Given the description of an element on the screen output the (x, y) to click on. 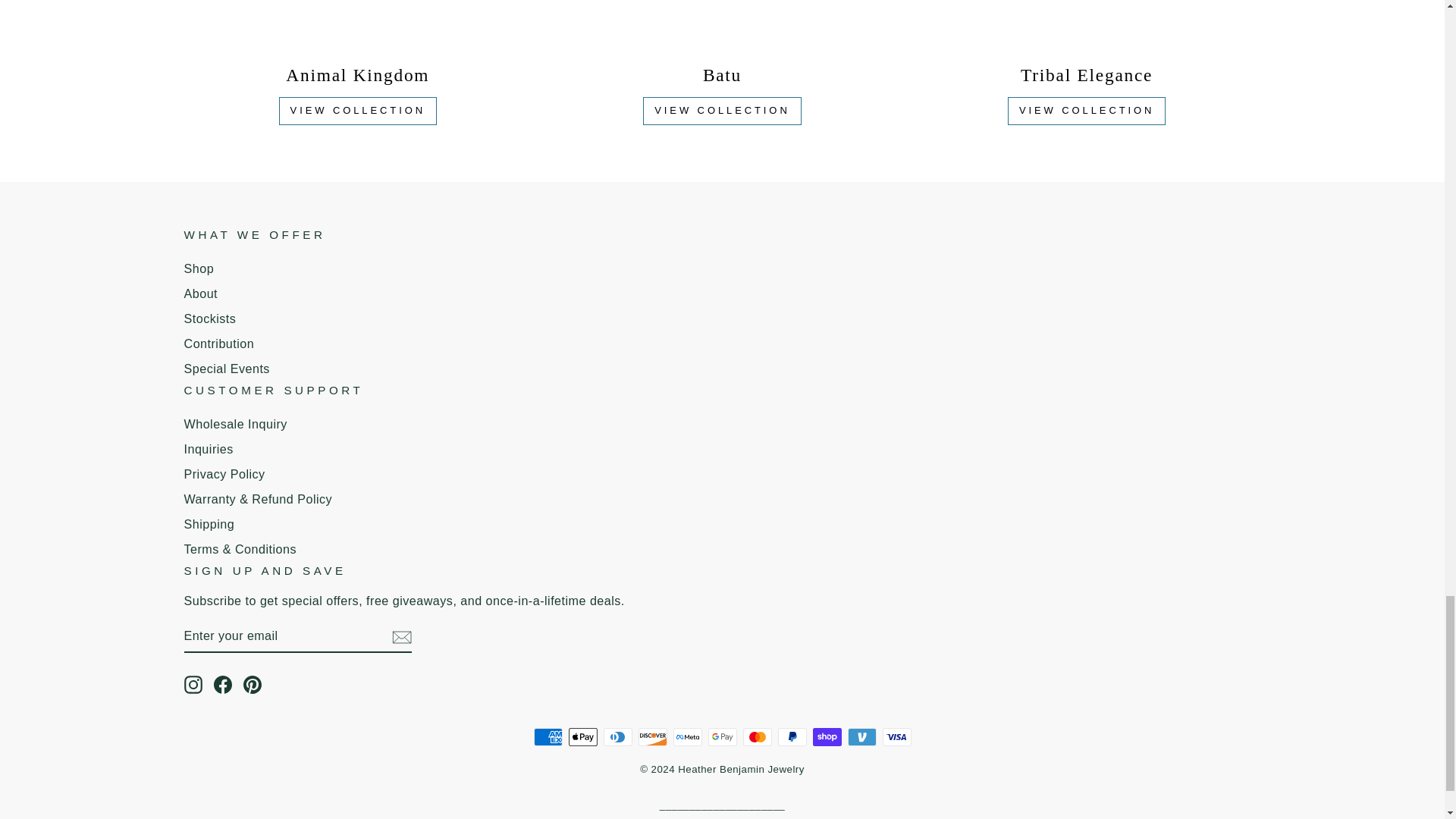
American Express (548, 737)
Meta Pay (686, 737)
Diners Club (617, 737)
Heather Benjamin Jewelry on Facebook (222, 684)
Apple Pay (582, 737)
Heather Benjamin Jewelry on Instagram (192, 684)
Heather Benjamin Jewelry on Pinterest (251, 684)
Discover (652, 737)
